Given the description of an element on the screen output the (x, y) to click on. 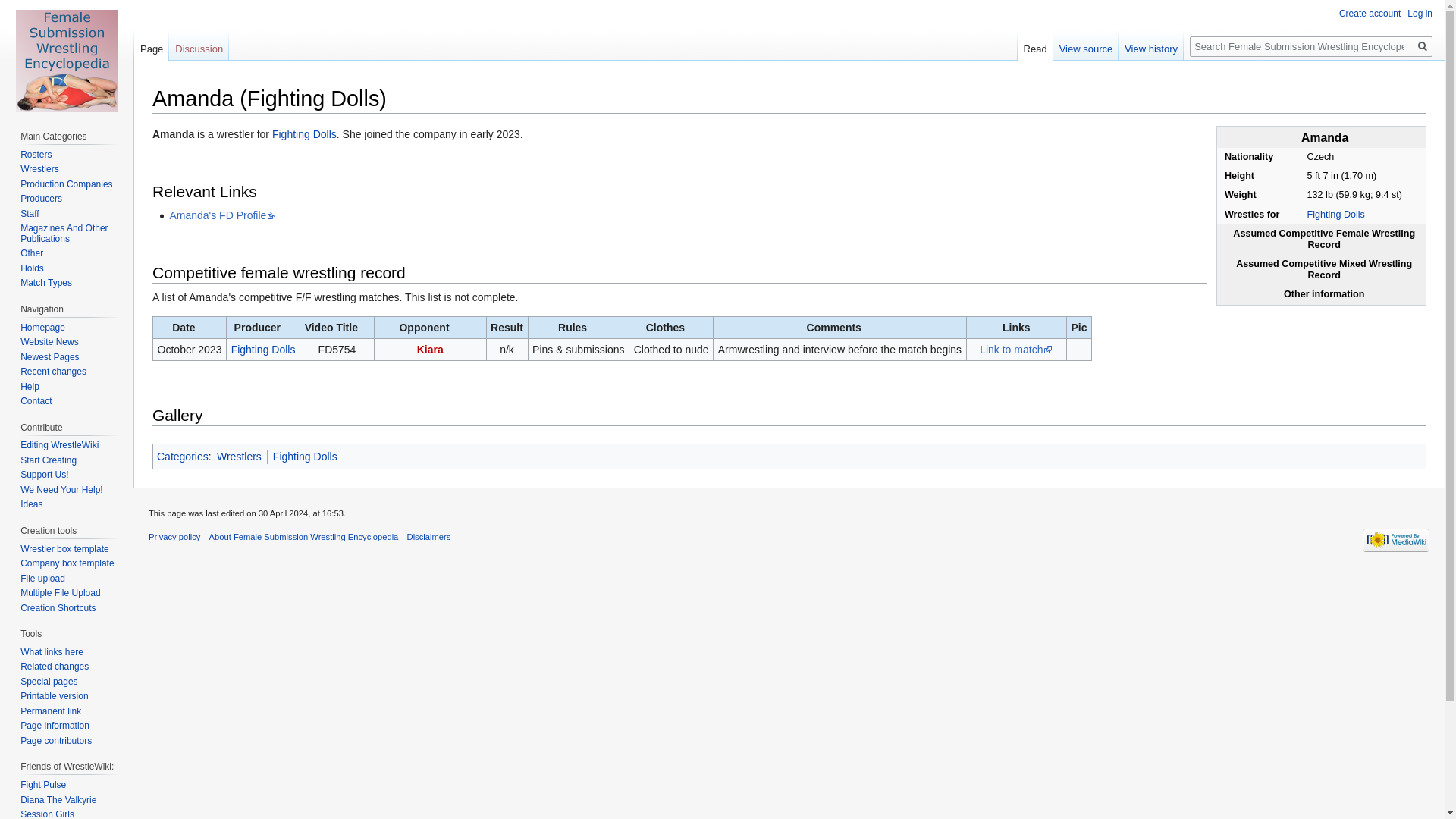
Categories (182, 456)
Wrestlers (39, 168)
Special:Categories (182, 456)
Fighting Dolls (263, 349)
View source (1085, 45)
Amanda's FD Profile (222, 215)
Page (150, 45)
Sort ascending (263, 327)
Staff (29, 213)
Wrestlers (239, 456)
Log in (1419, 13)
Sort ascending (839, 327)
Other (31, 253)
Match Types (45, 282)
